Given the description of an element on the screen output the (x, y) to click on. 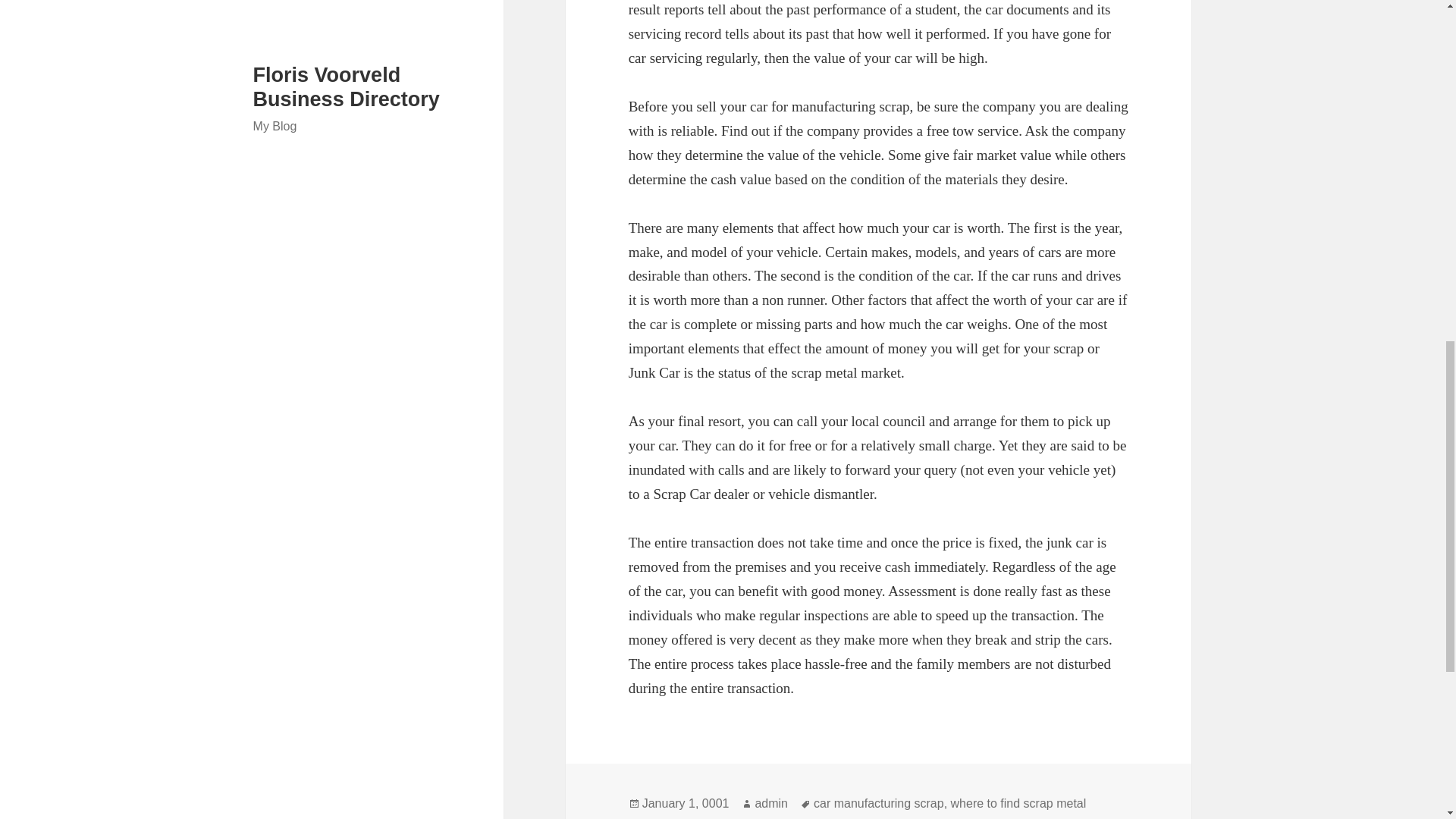
January 1, 0001 (685, 803)
where to find scrap metal (1018, 803)
admin (770, 803)
car manufacturing scrap (878, 803)
